Given the description of an element on the screen output the (x, y) to click on. 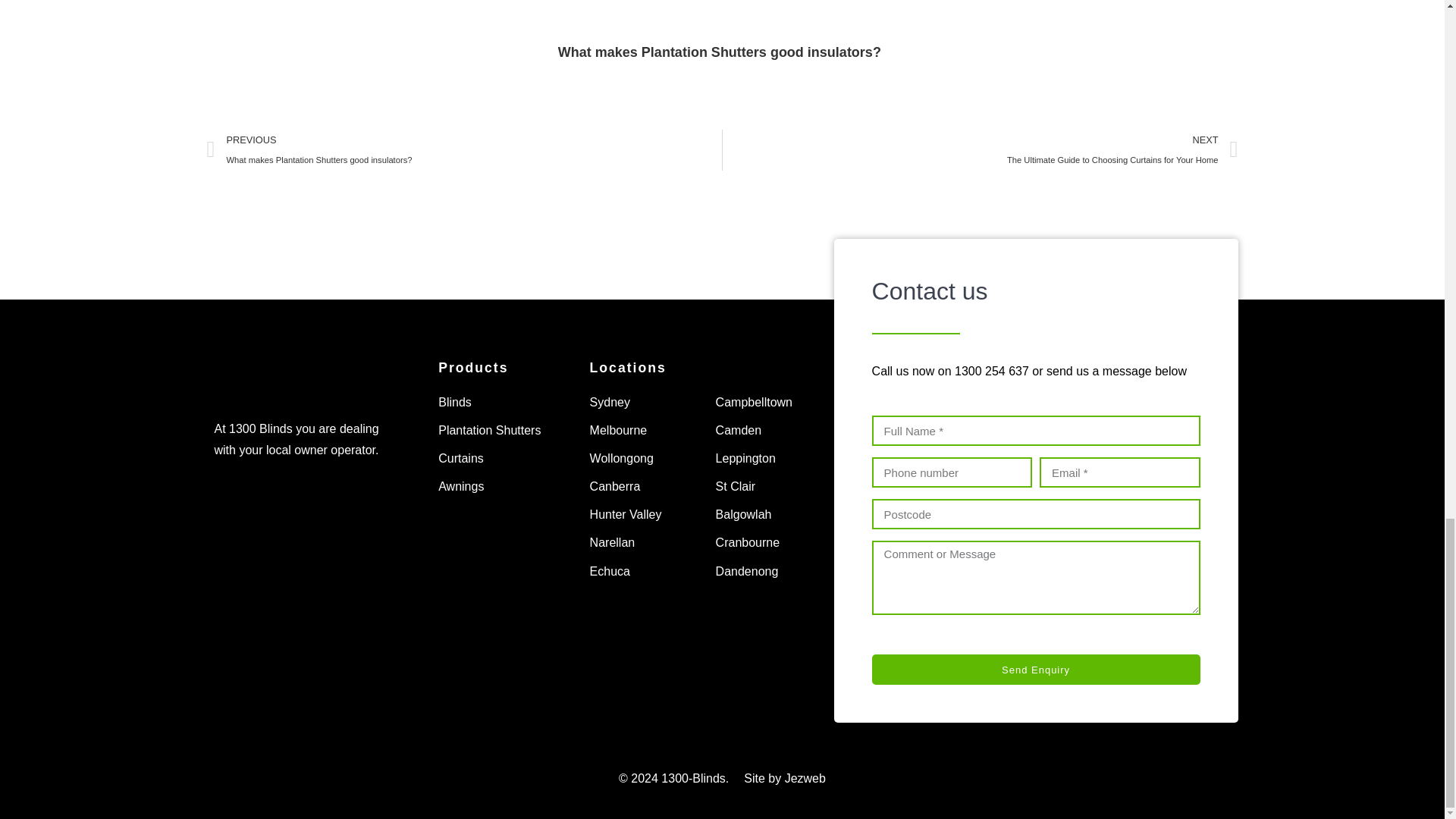
Web Design Newcastle (784, 778)
